Given the description of an element on the screen output the (x, y) to click on. 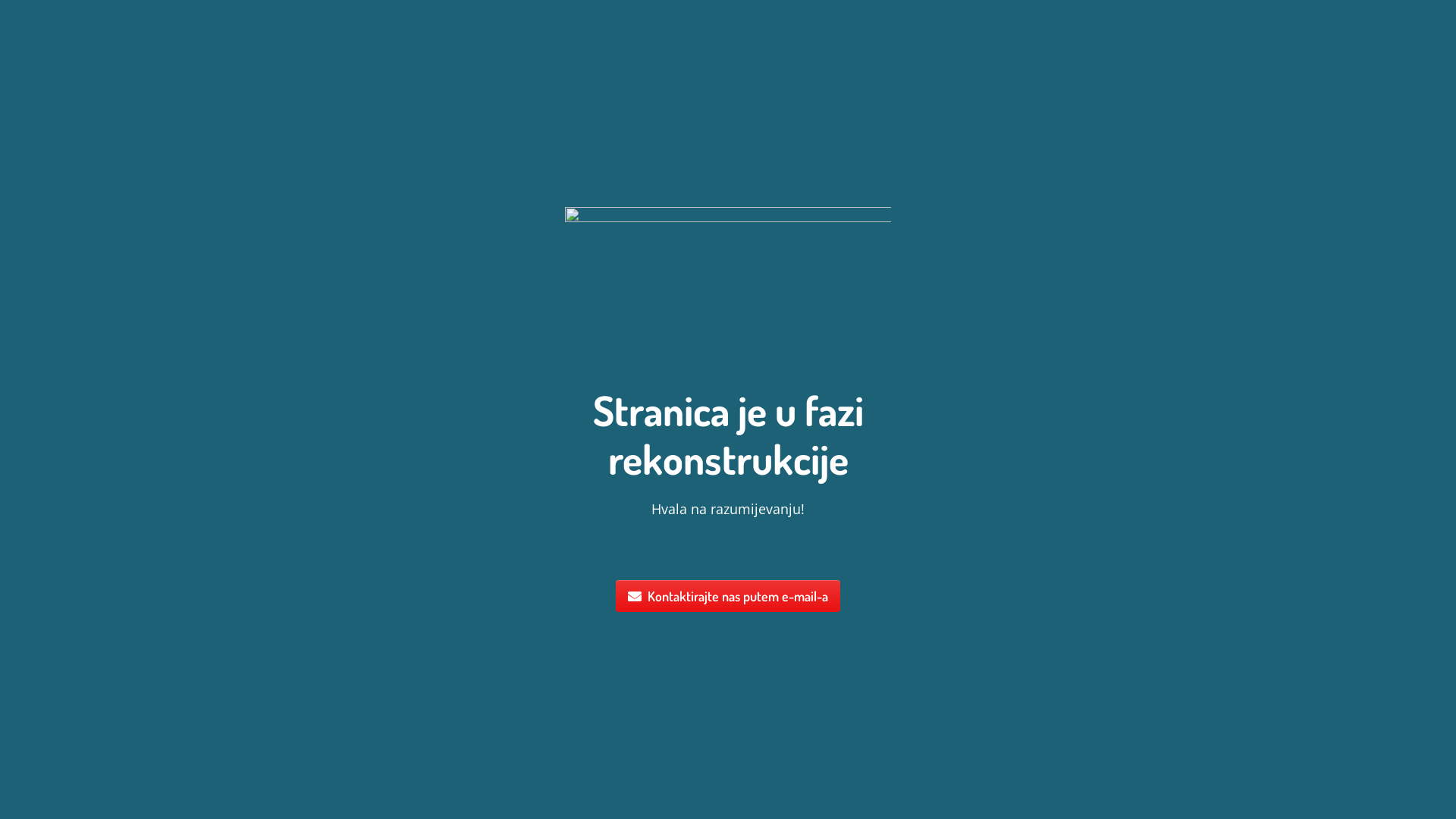
Kontaktirajte nas putem e-mail-a Element type: text (727, 595)
